Given the description of an element on the screen output the (x, y) to click on. 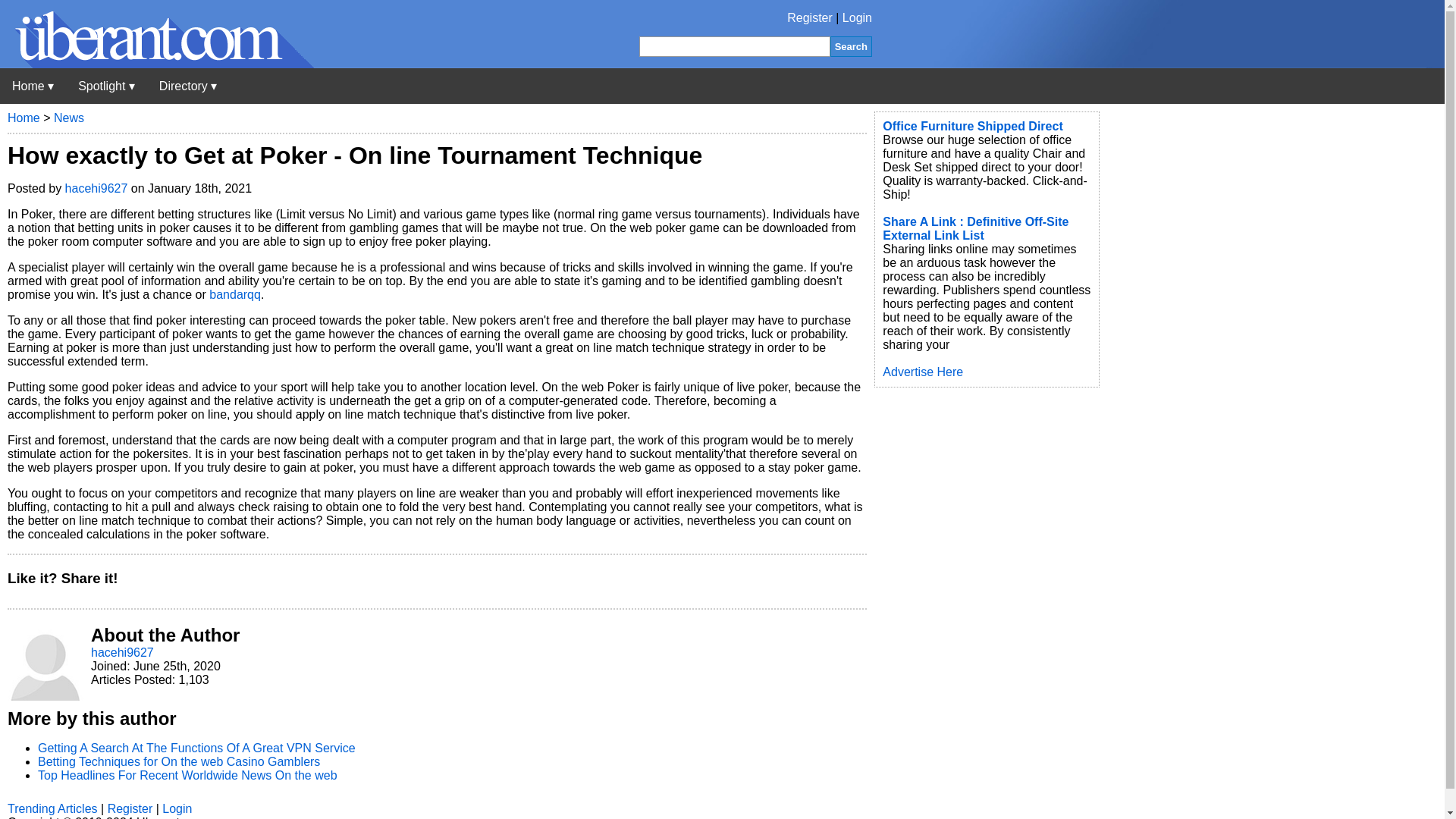
Uberant (32, 85)
Register (809, 17)
Login (857, 17)
Uberant (157, 63)
Search (850, 46)
Search (850, 46)
